Given the description of an element on the screen output the (x, y) to click on. 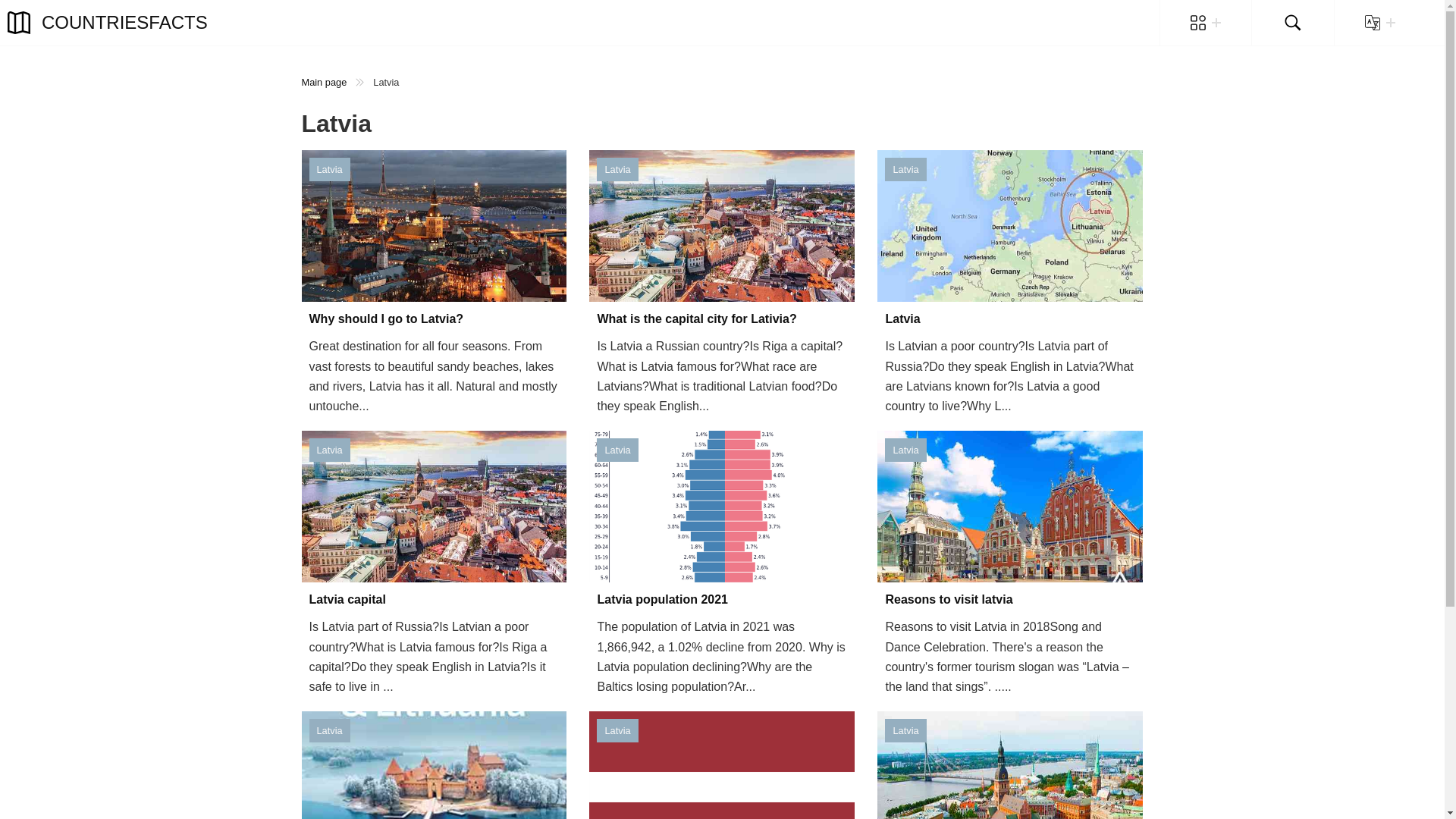
Latvia (1010, 319)
Latvia (905, 730)
Reasons to visit latvia (1010, 599)
COUNTRIESFACTS (107, 22)
Main page (324, 81)
Why should I go to Latvia? (433, 319)
Latvia (905, 169)
What is the capital city for Lativia? (721, 319)
Latvia (616, 169)
Latvia population 2021 (721, 599)
Latvia capital (433, 599)
Latvia (329, 449)
Latvia (616, 730)
Latvia (616, 449)
Latvia (329, 730)
